Given the description of an element on the screen output the (x, y) to click on. 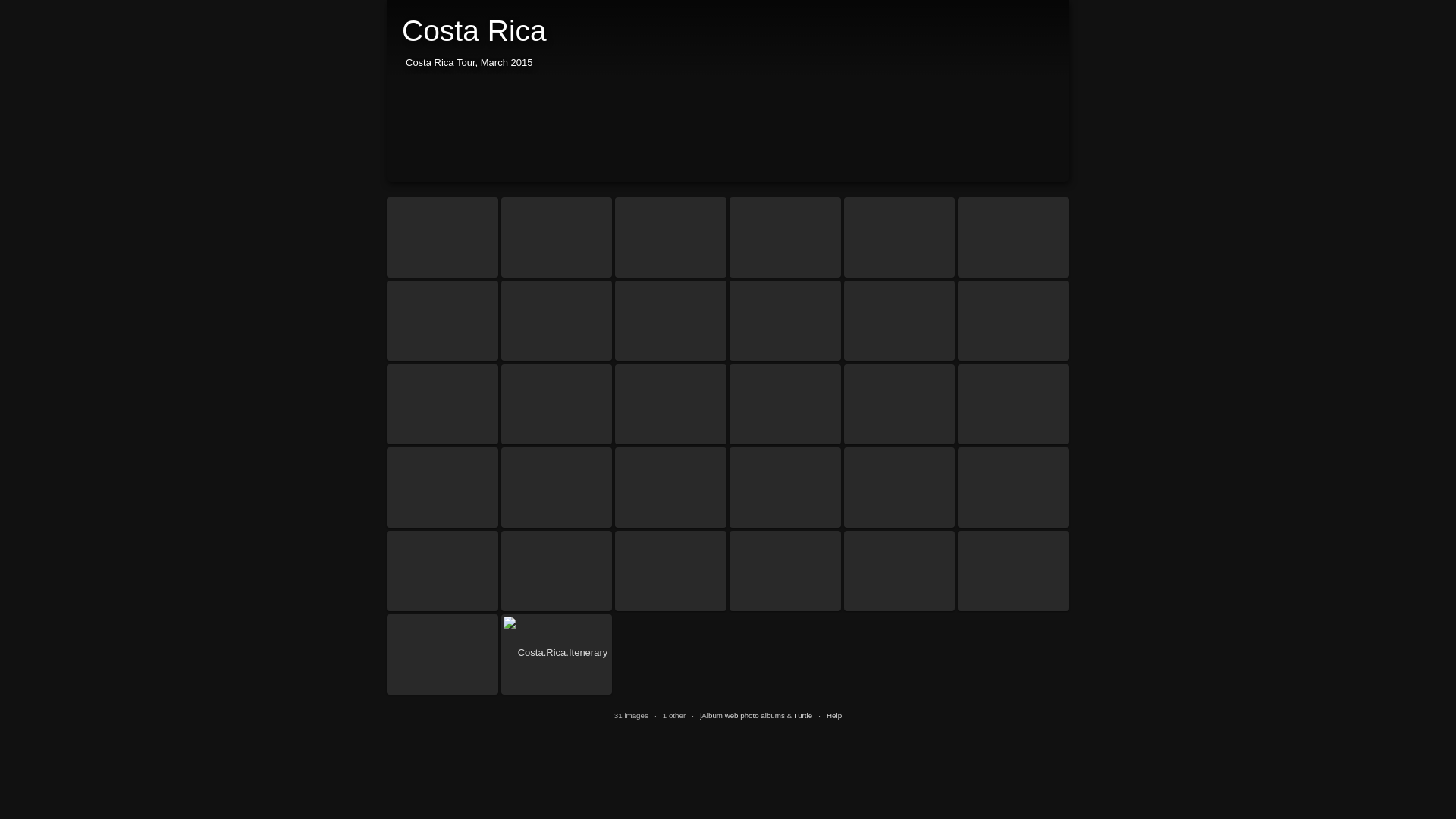
Get jAlbum now!, 19.3.6 (742, 715)
Get help using gallery controls (834, 715)
